Given the description of an element on the screen output the (x, y) to click on. 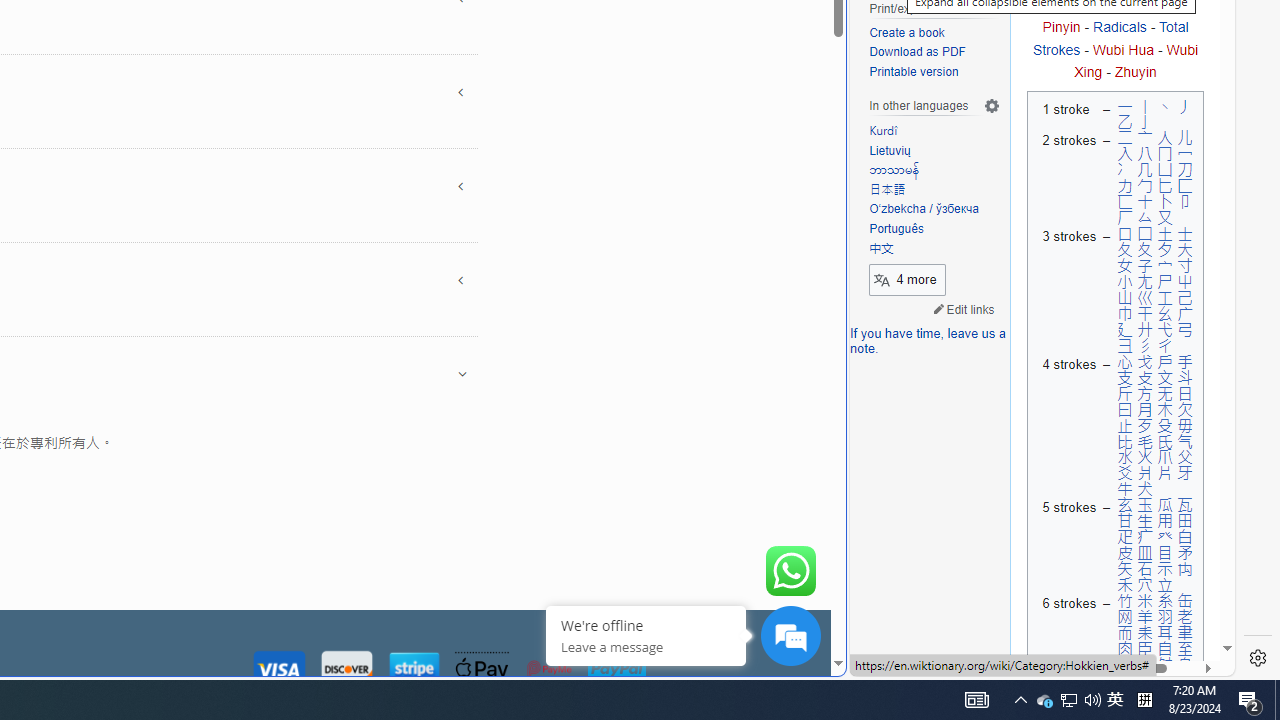
Create a book (934, 33)
